Given the description of an element on the screen output the (x, y) to click on. 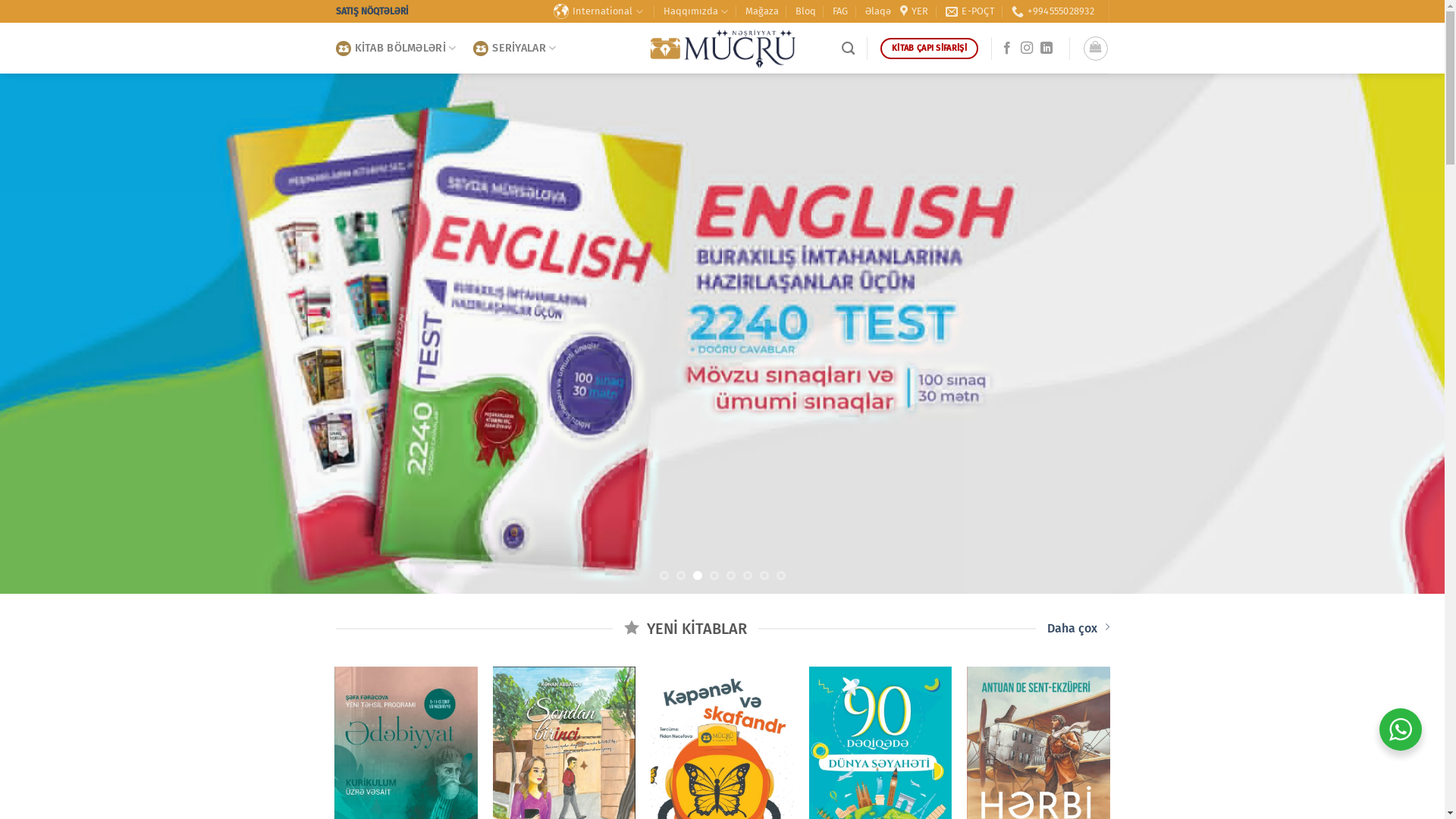
FAG Element type: text (839, 11)
SERIYALAR Element type: text (516, 48)
International Element type: text (599, 11)
+994555028932 Element type: text (1052, 11)
Bloq Element type: text (805, 11)
YER Element type: text (914, 11)
